Given the description of an element on the screen output the (x, y) to click on. 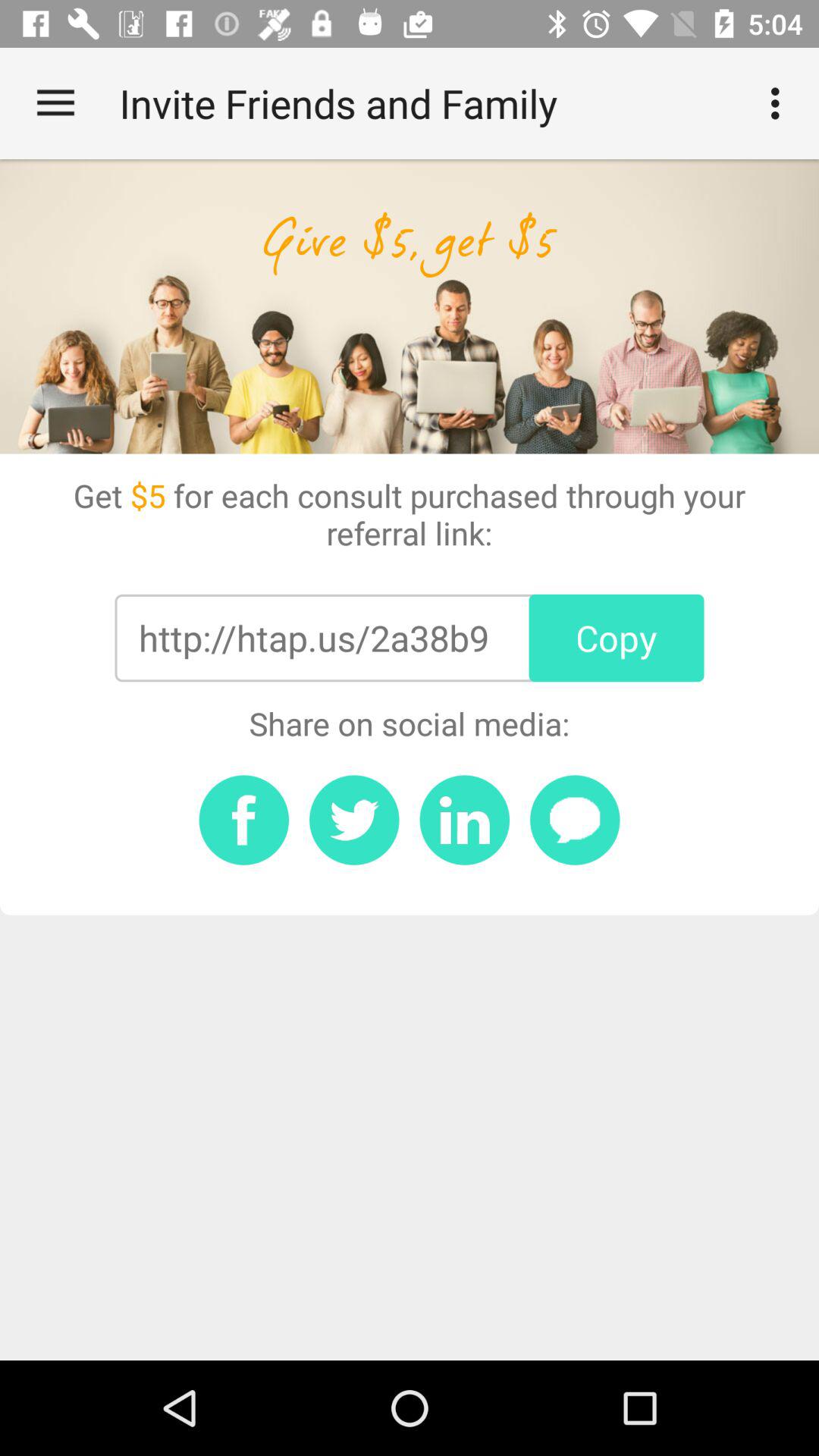
share in a message (574, 820)
